Given the description of an element on the screen output the (x, y) to click on. 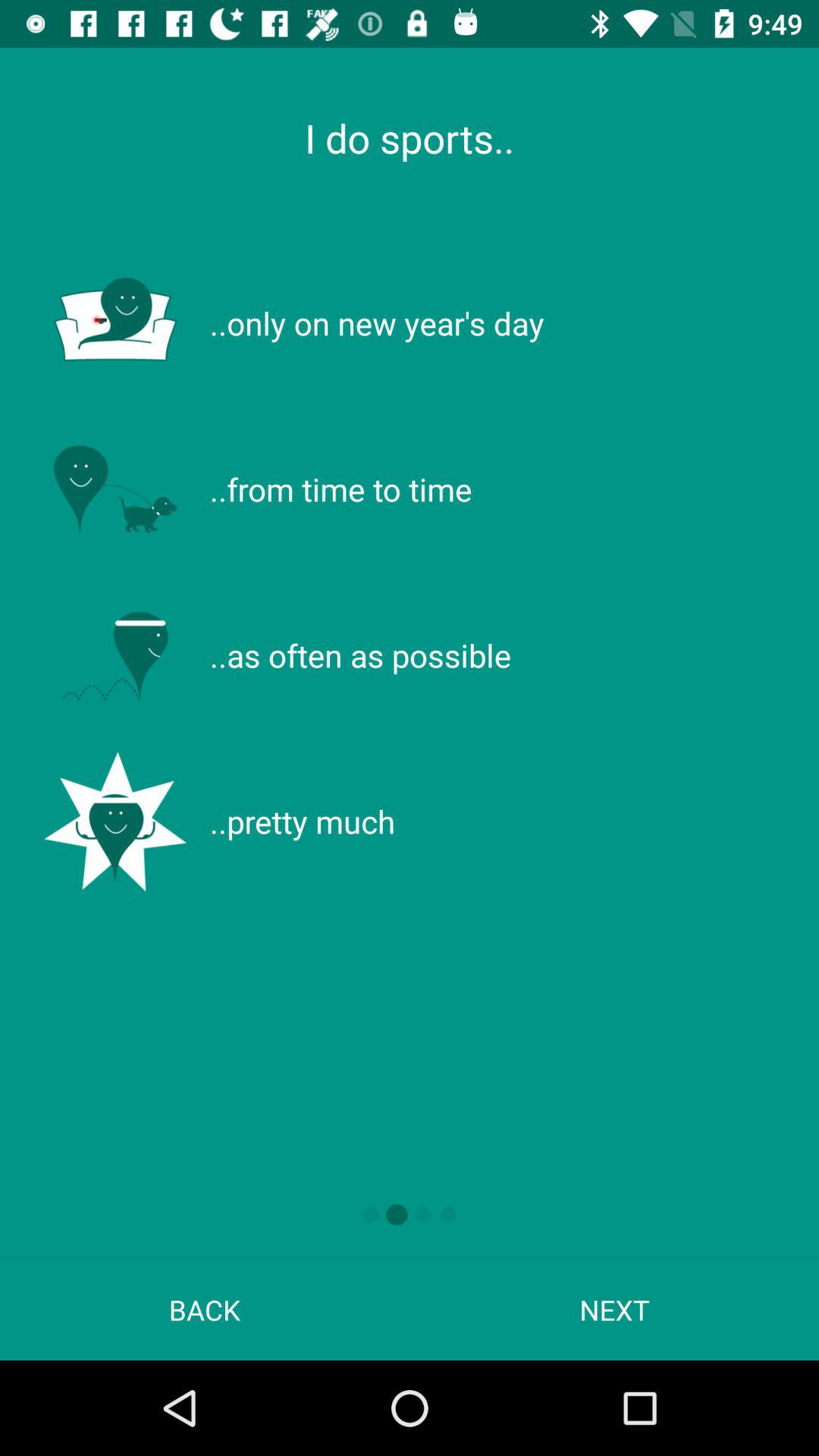
select the next (614, 1309)
